Given the description of an element on the screen output the (x, y) to click on. 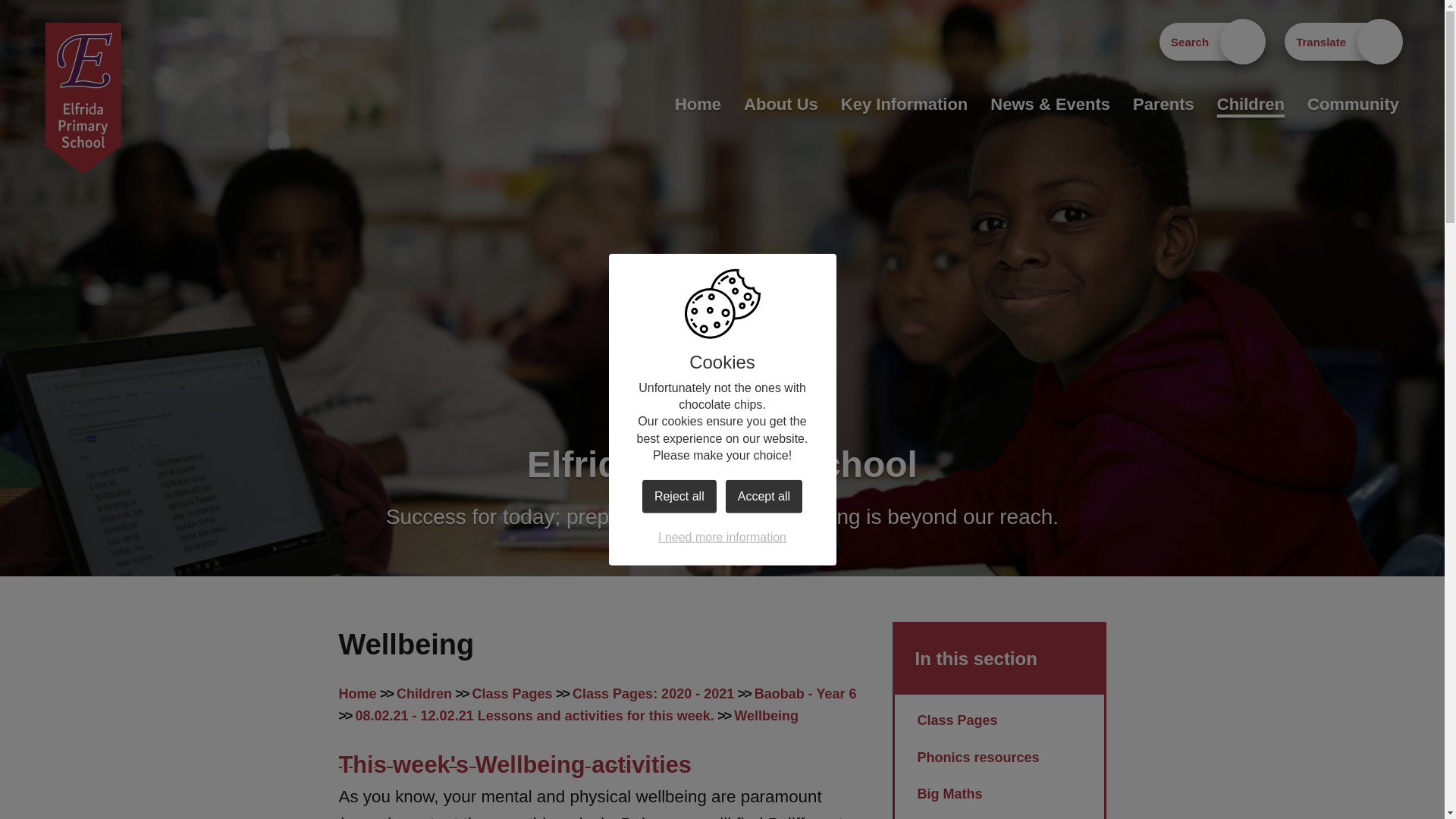
About Us (781, 103)
Translate (1341, 41)
Key Information (904, 103)
Search (1210, 41)
Home (697, 103)
